Given the description of an element on the screen output the (x, y) to click on. 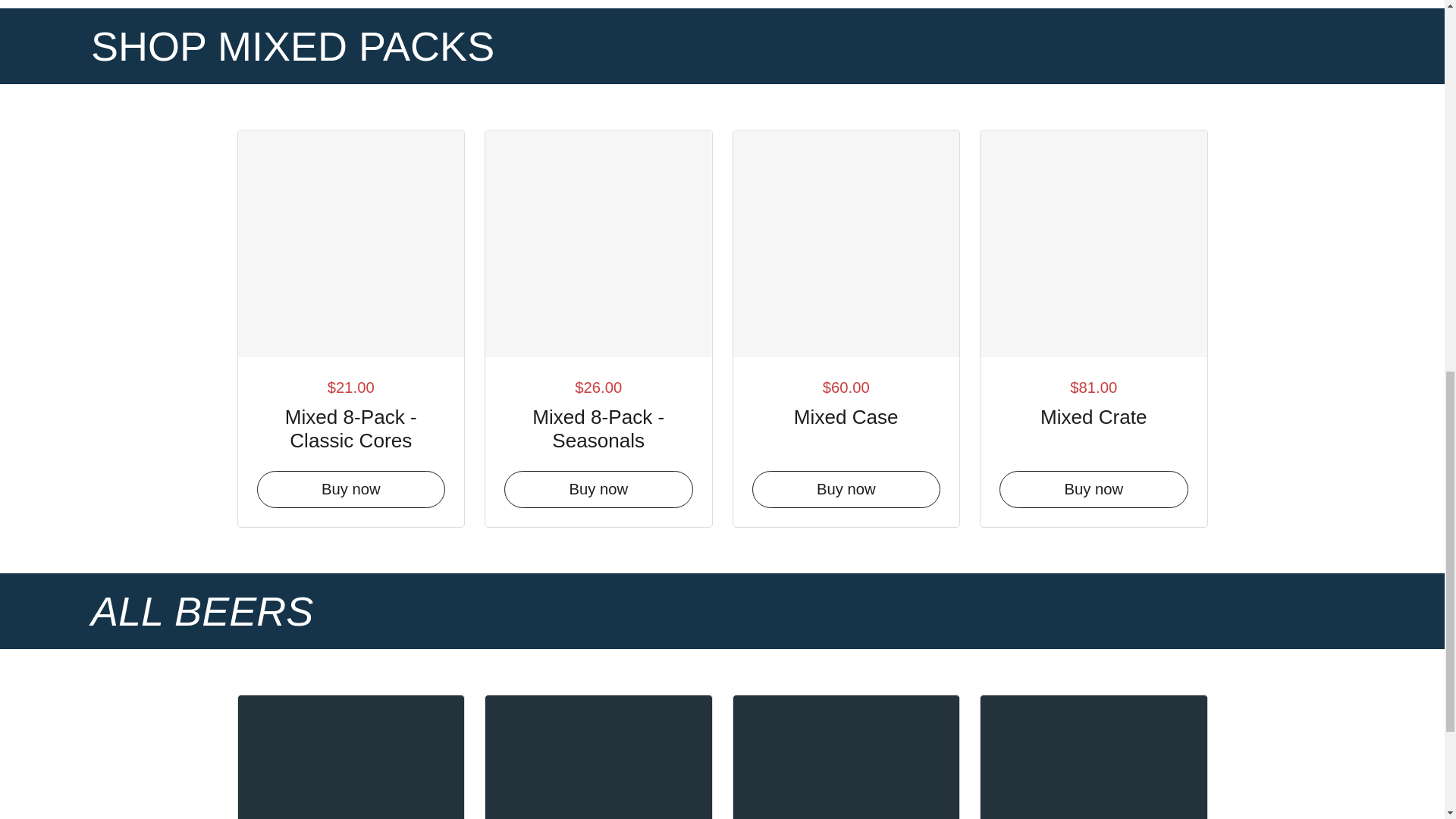
Mixed Case (845, 414)
ALL BEERS (202, 611)
Mixed Crate (1094, 414)
Mixed 8-Pack - Seasonals (598, 425)
SHOP MIXED PACKS (292, 45)
Mixed 8-Pack - Classic Cores (350, 425)
